Given the description of an element on the screen output the (x, y) to click on. 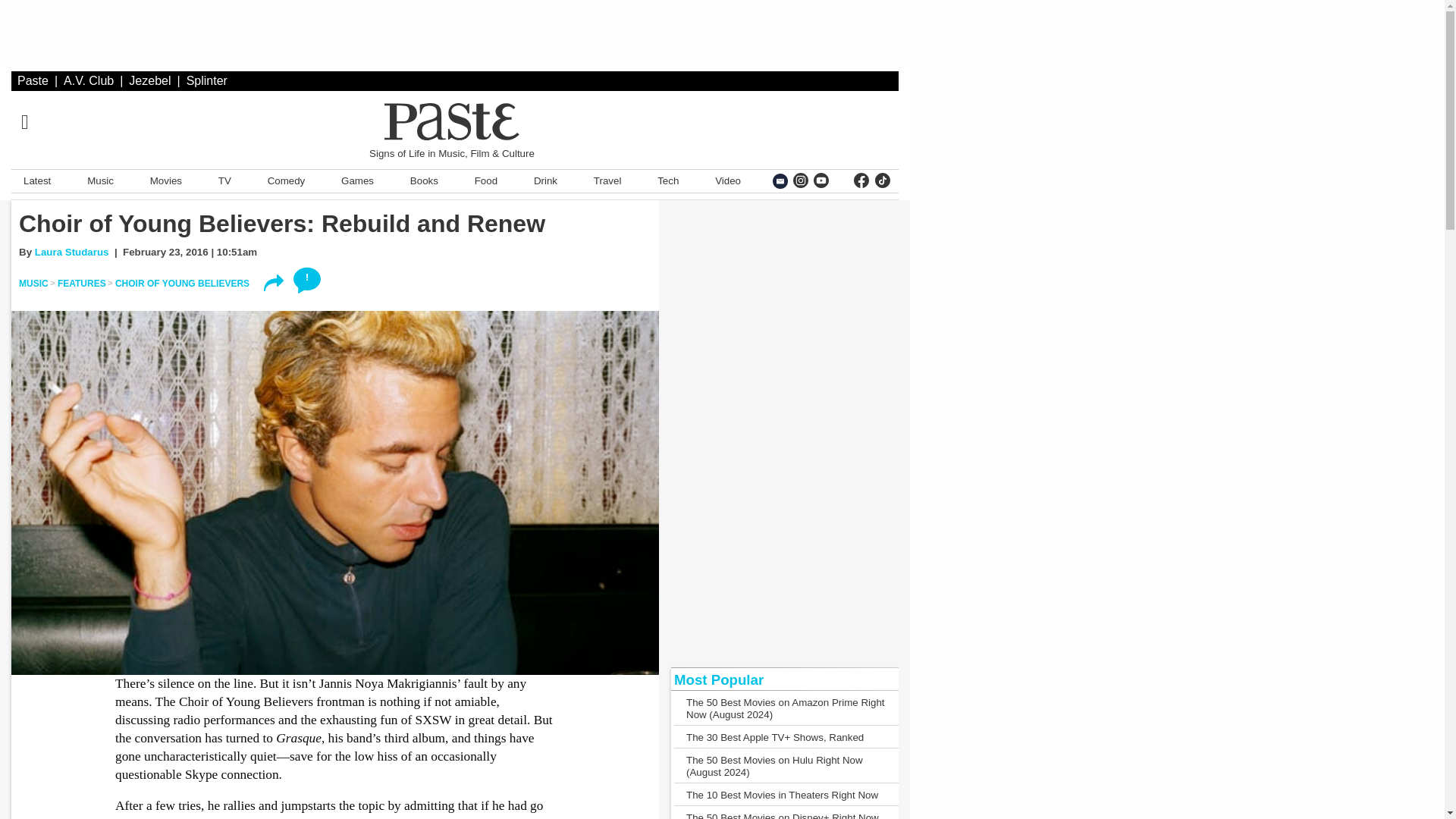
Books (424, 180)
Paste (32, 80)
Games (357, 180)
Latest (36, 180)
Music (100, 180)
Drink (545, 180)
Comedy (286, 180)
Jezebel (149, 80)
Food (485, 180)
A.V. Club (88, 80)
